Given the description of an element on the screen output the (x, y) to click on. 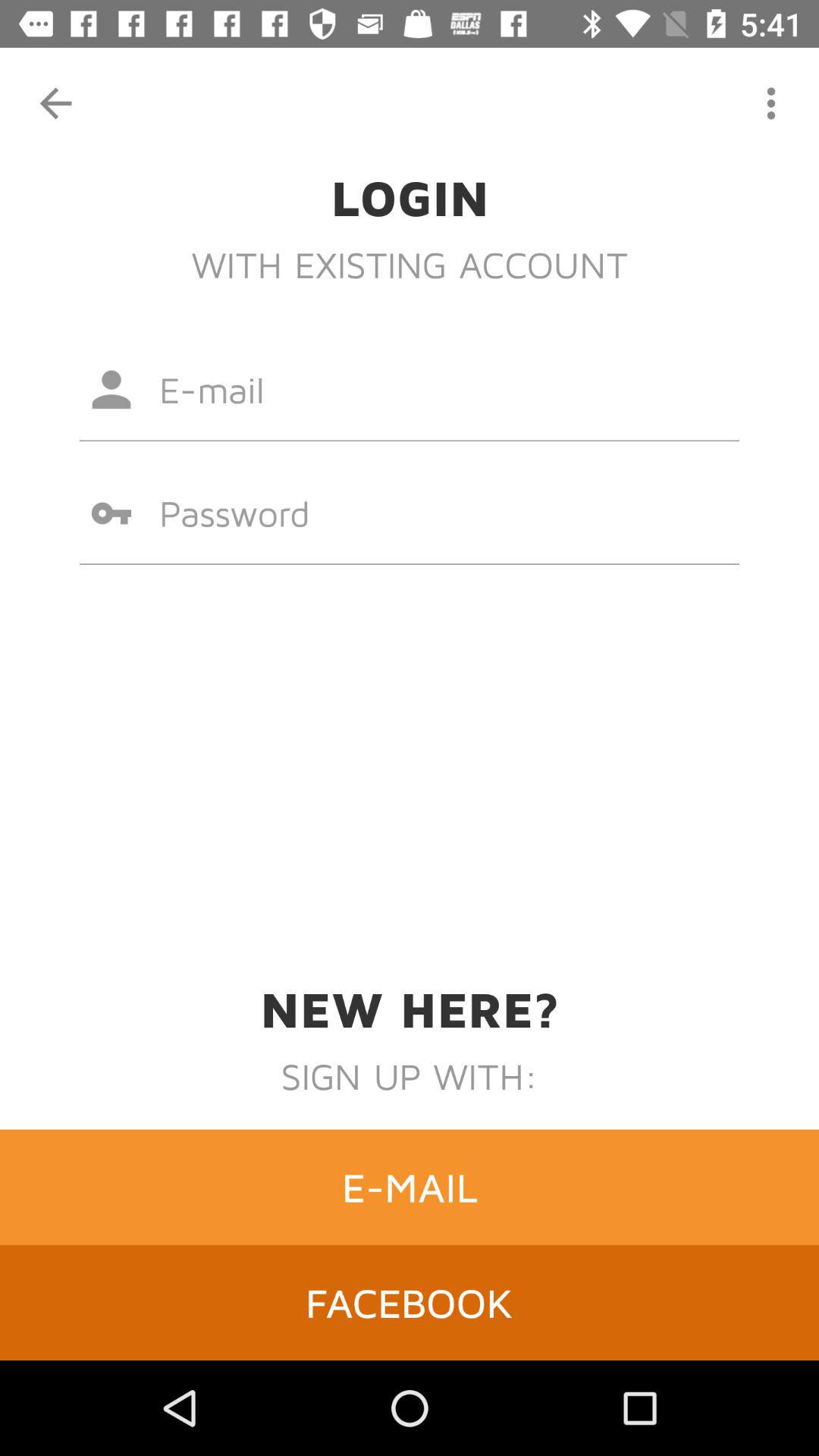
launch the item at the top left corner (55, 103)
